Given the description of an element on the screen output the (x, y) to click on. 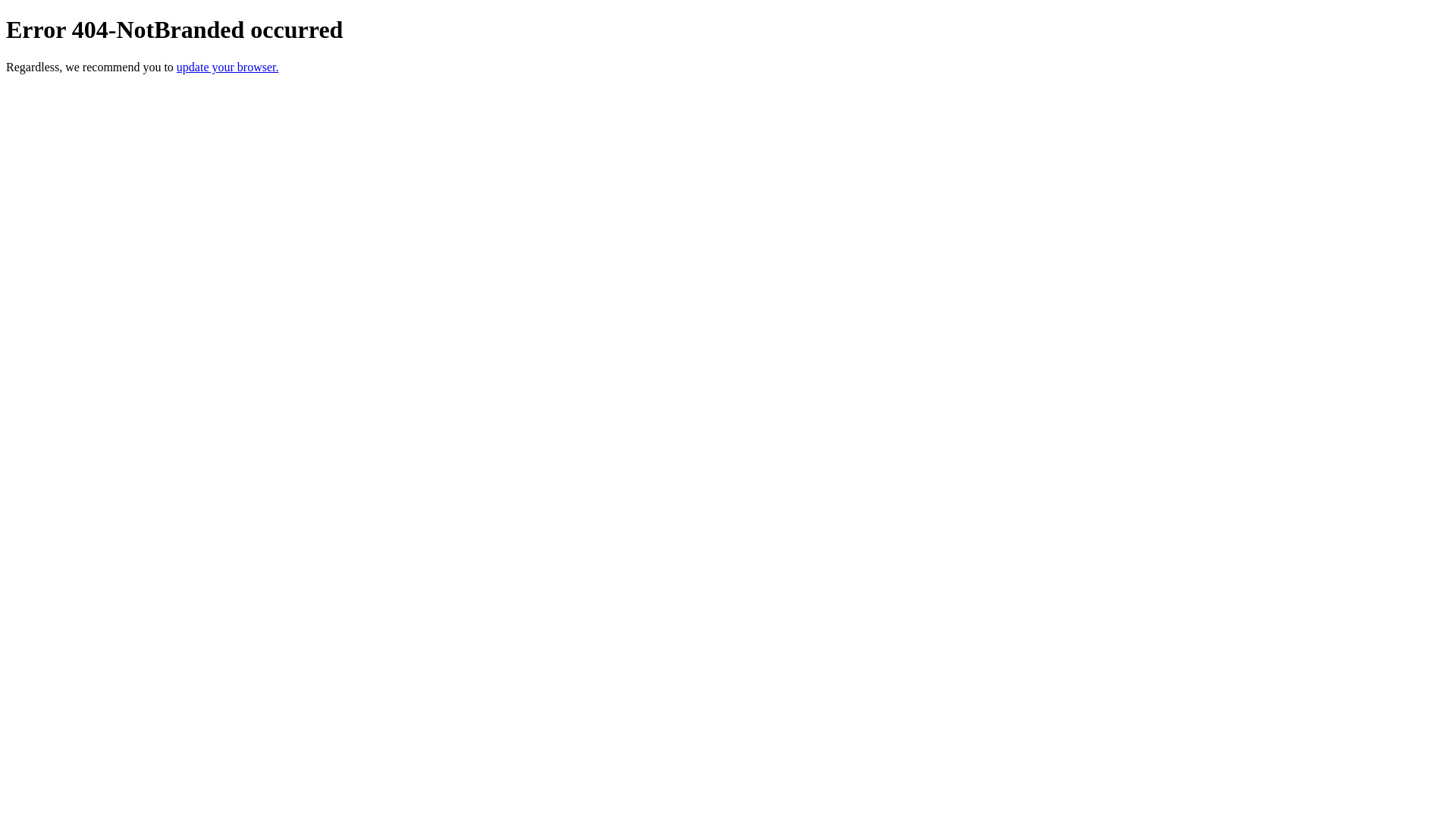
update your browser. Element type: text (227, 66)
